Given the description of an element on the screen output the (x, y) to click on. 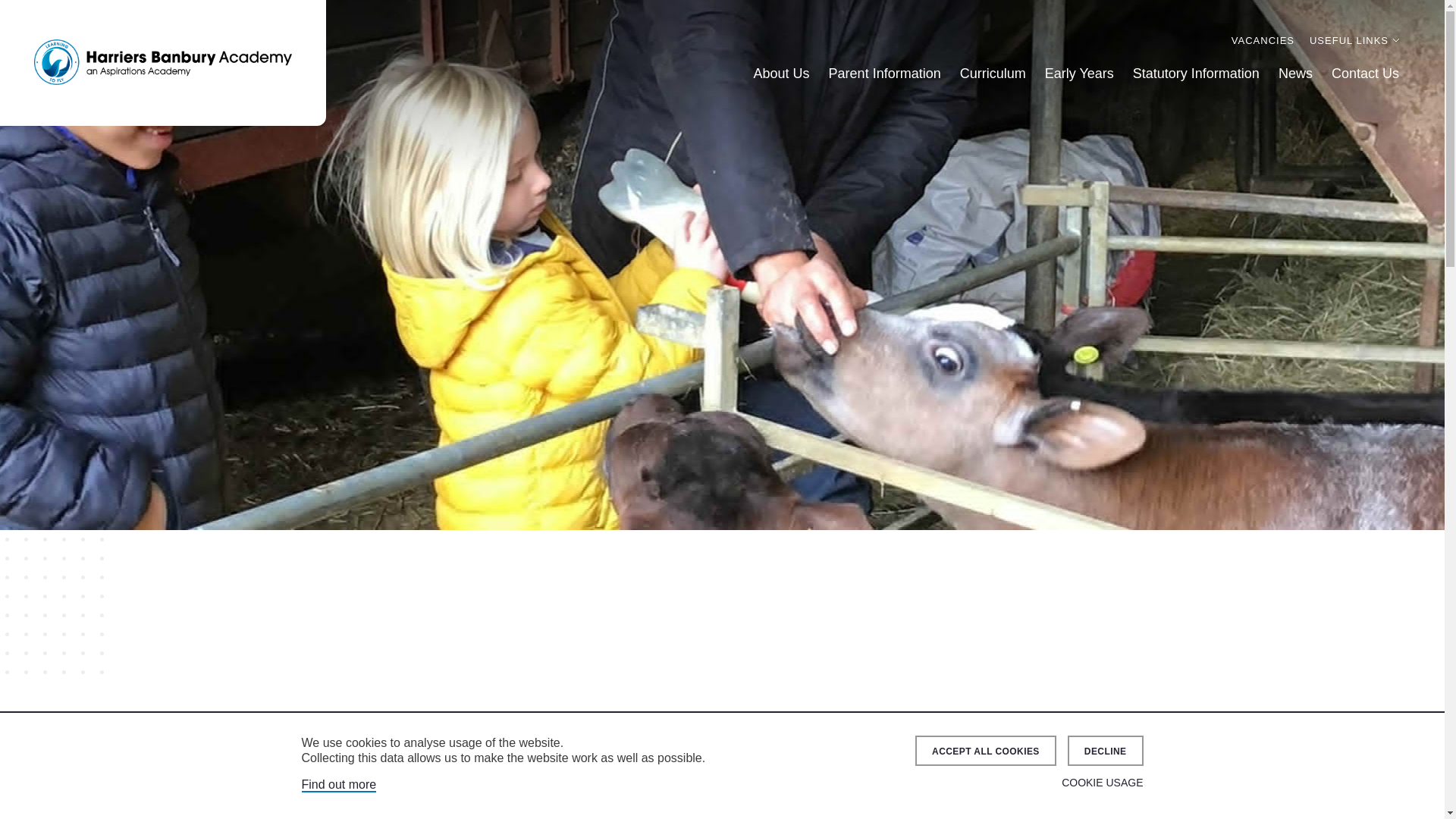
Curriculum (992, 73)
VACANCIES (1262, 40)
Parent Information (884, 73)
About Us (781, 73)
